Given the description of an element on the screen output the (x, y) to click on. 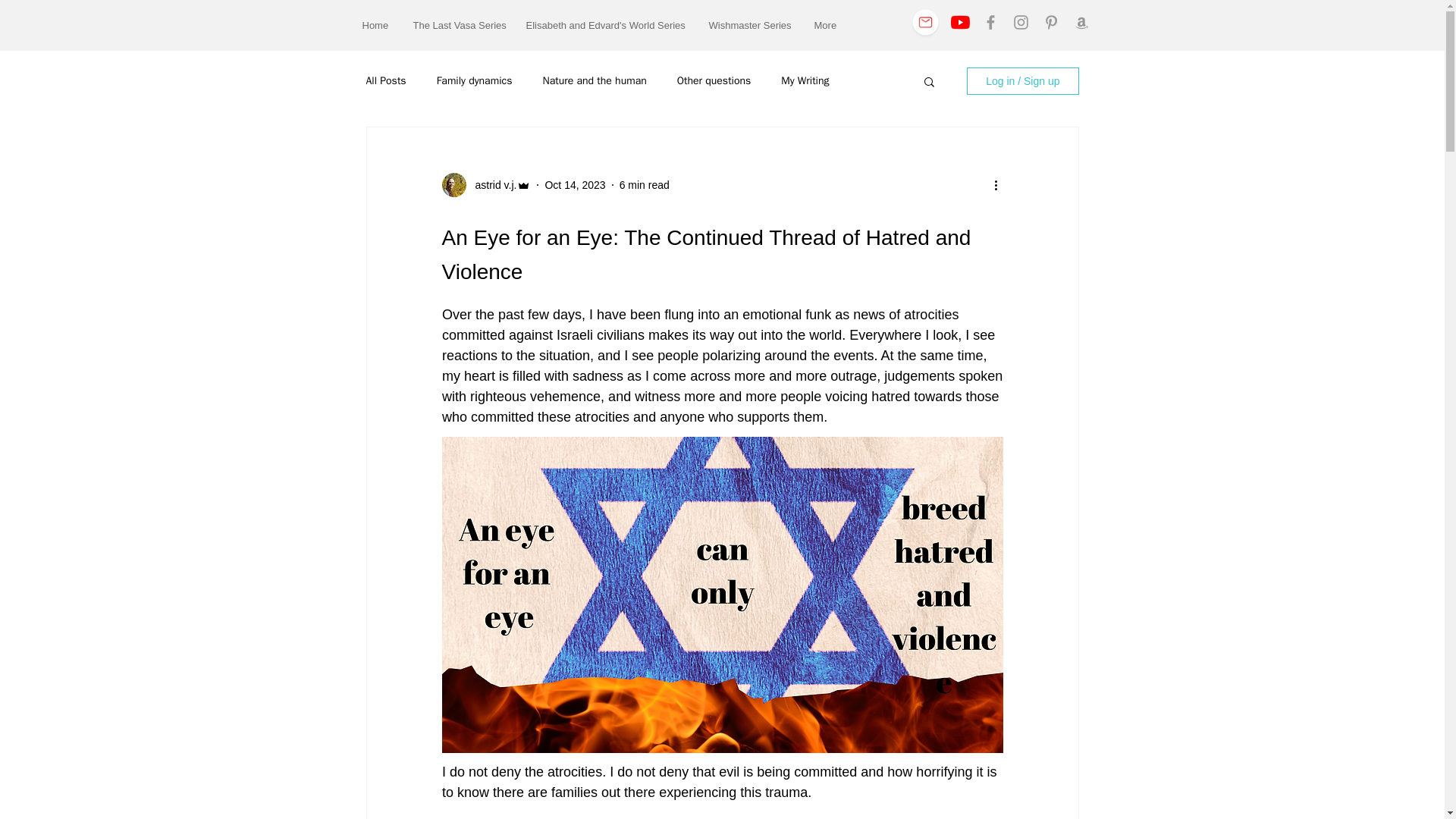
Oct 14, 2023 (574, 184)
The Last Vasa Series (458, 25)
Other questions (714, 80)
Family dynamics (474, 80)
Elisabeth and Edvard's World Series (605, 25)
My Writing (804, 80)
Wishmaster Series (750, 25)
6 min read (644, 184)
Nature and the human (593, 80)
astrid v.j. (490, 185)
All Posts (385, 80)
Home (375, 25)
